Given the description of an element on the screen output the (x, y) to click on. 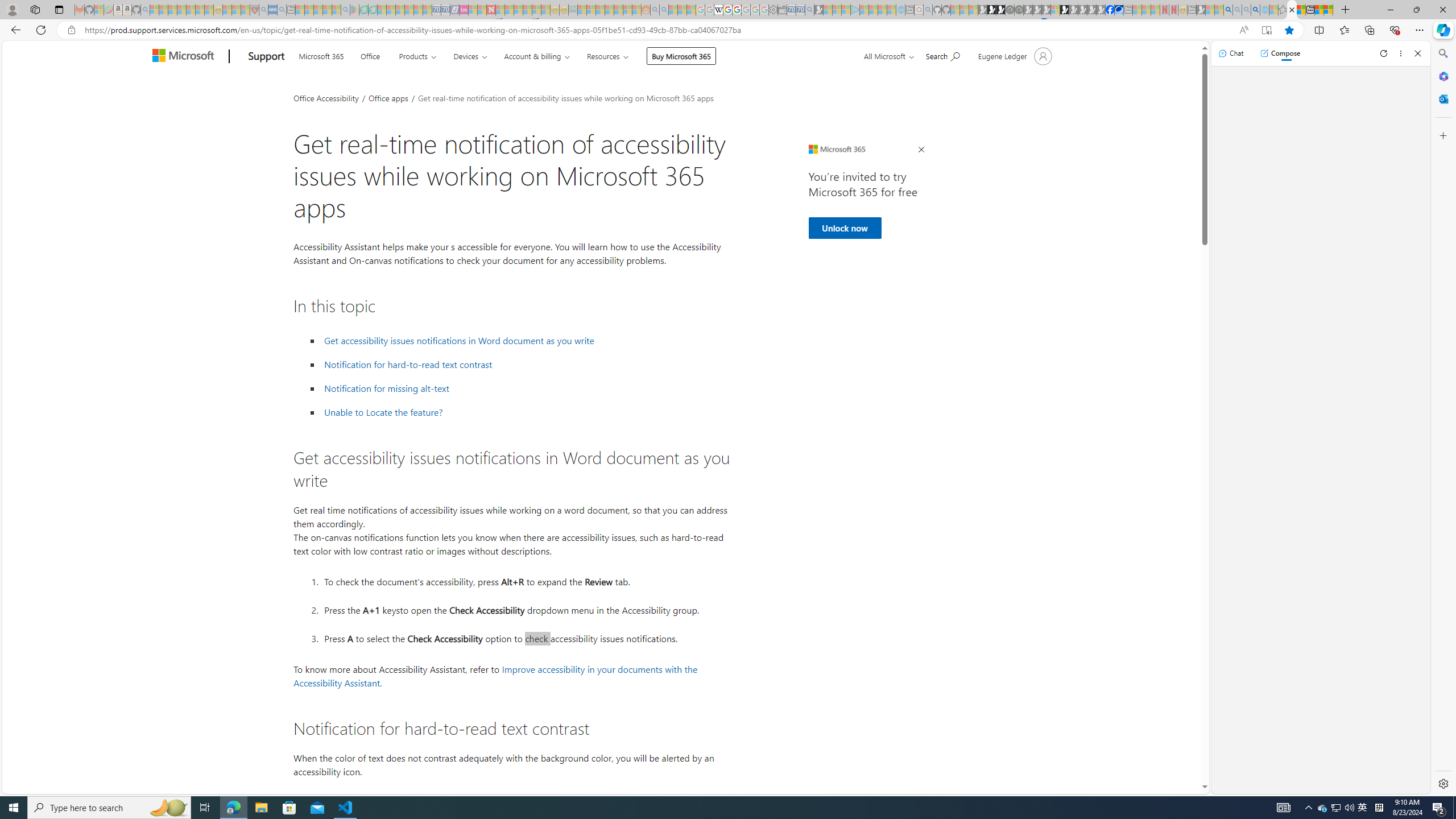
Play Zoo Boom in your browser | Games from Microsoft Start (991, 9)
Notification for missing alt-text (525, 388)
Future Focus Report 2024 - Sleeping (1018, 9)
